Given the description of an element on the screen output the (x, y) to click on. 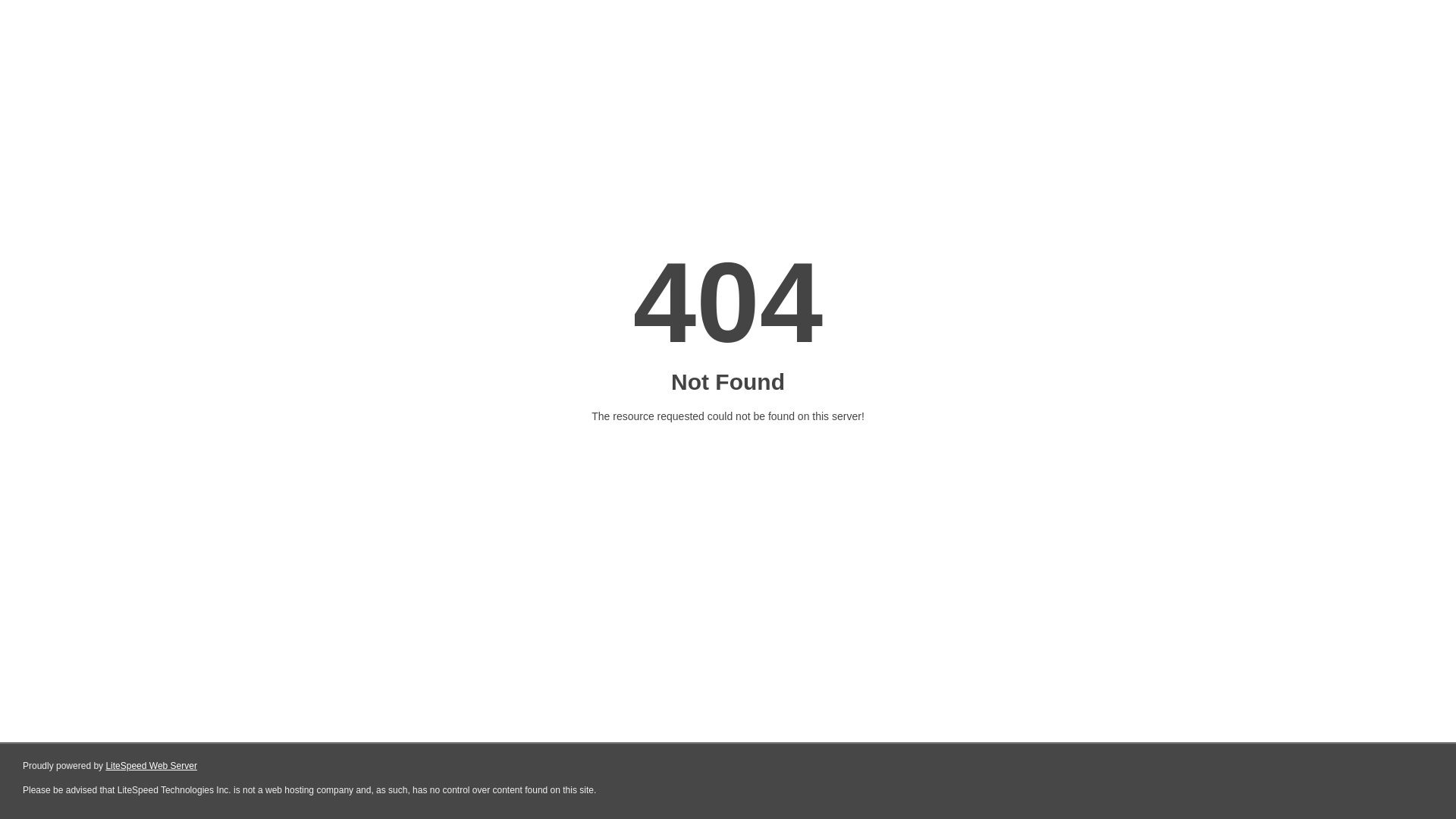
LiteSpeed Web Server Element type: text (151, 765)
